Given the description of an element on the screen output the (x, y) to click on. 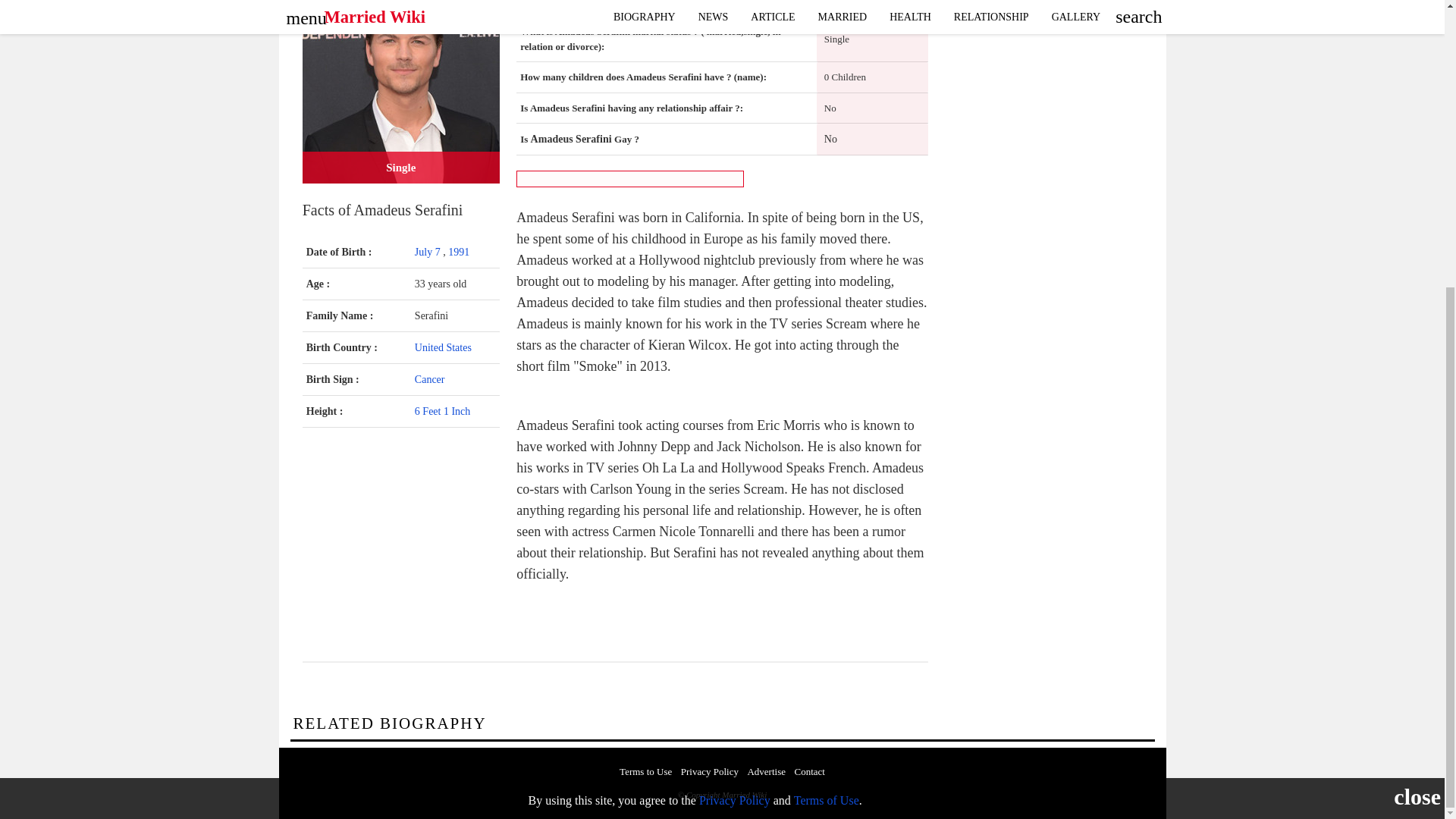
Terms of Use (826, 365)
United States (442, 347)
Cancer (429, 378)
Privacy Policy (734, 365)
1991 (458, 251)
July 7 (428, 251)
6 Feet 1 Inch (442, 410)
